Given the description of an element on the screen output the (x, y) to click on. 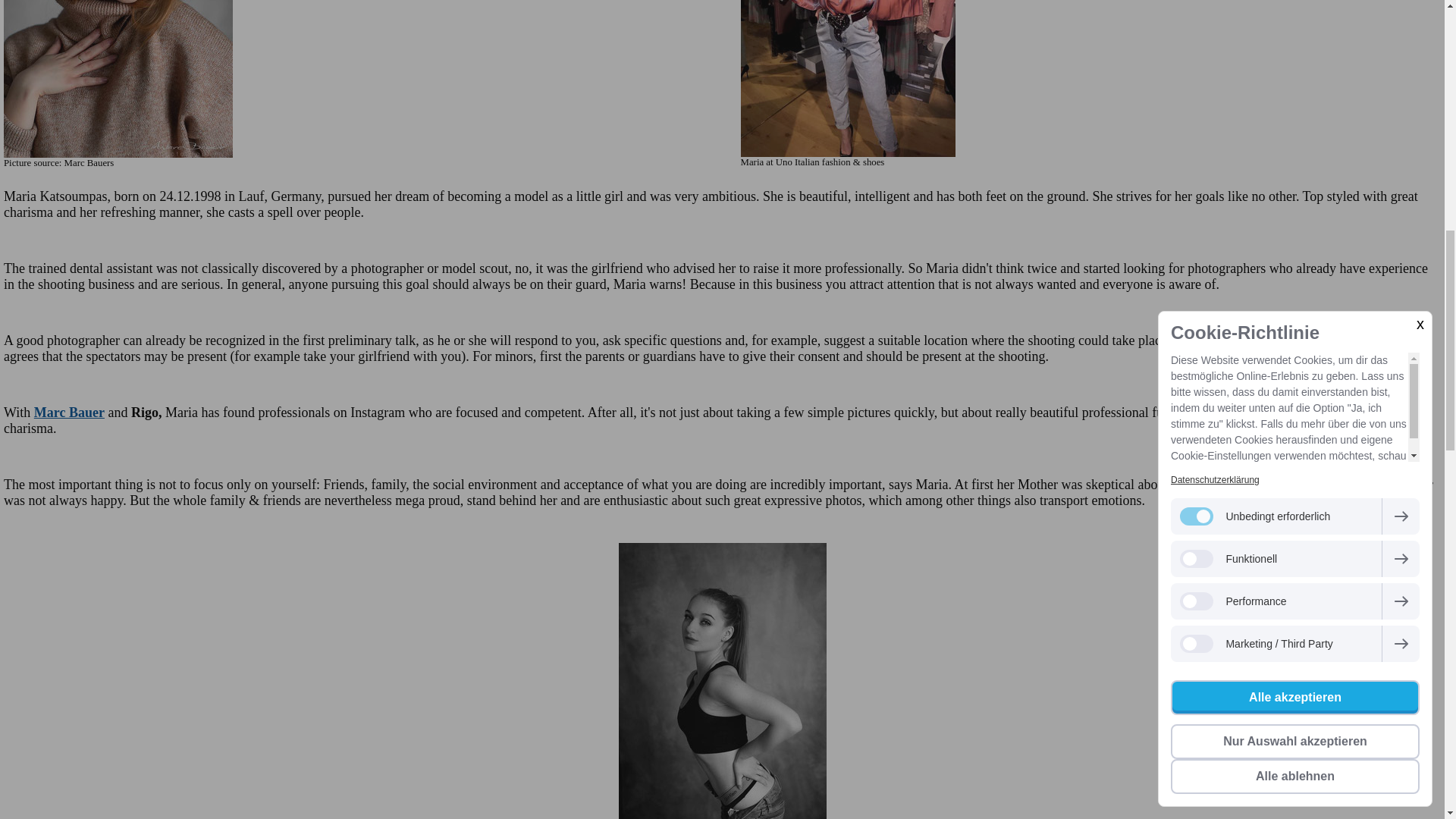
Marc Bauer (68, 412)
